Given the description of an element on the screen output the (x, y) to click on. 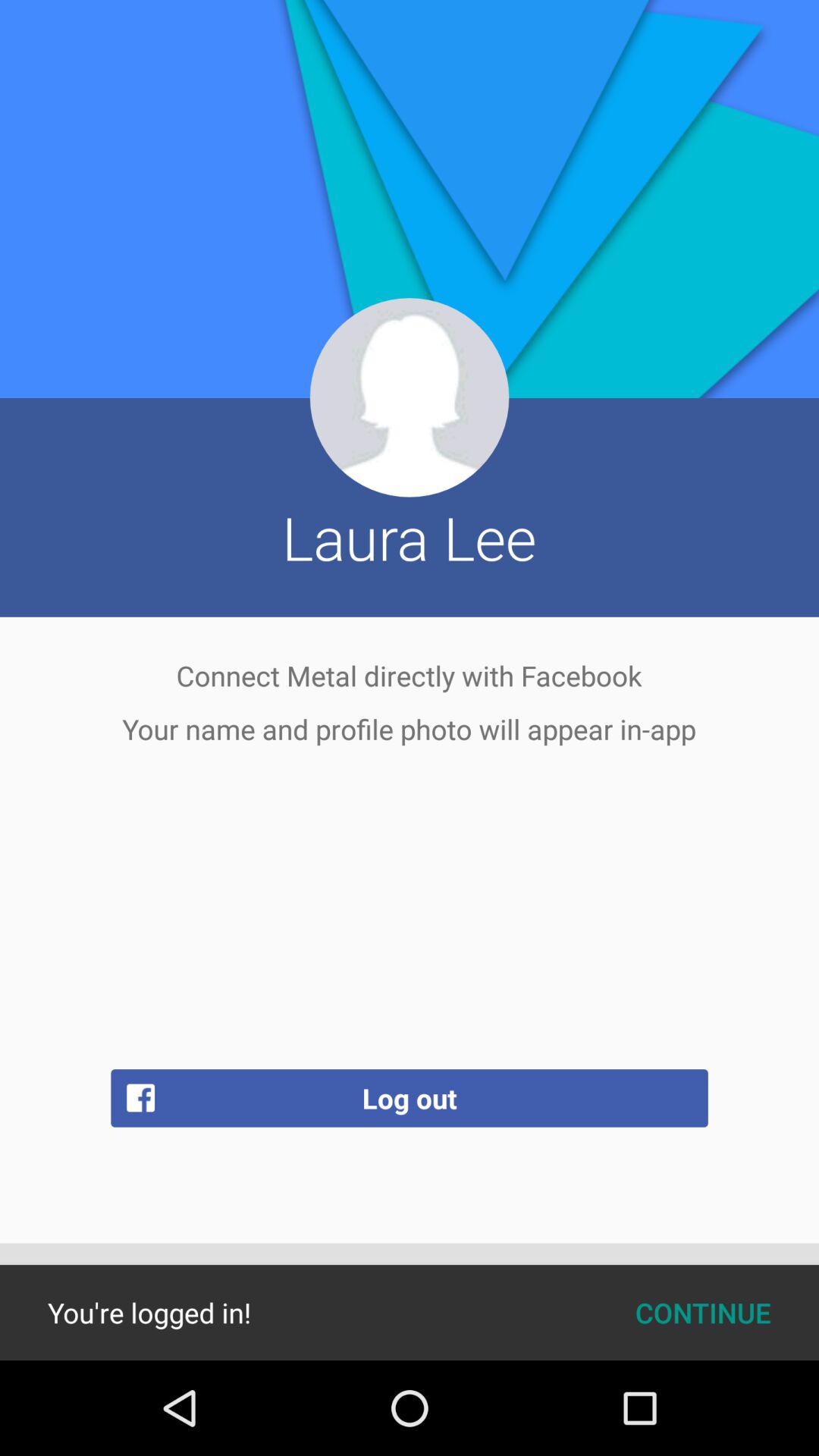
launch the item above continue icon (409, 1098)
